Given the description of an element on the screen output the (x, y) to click on. 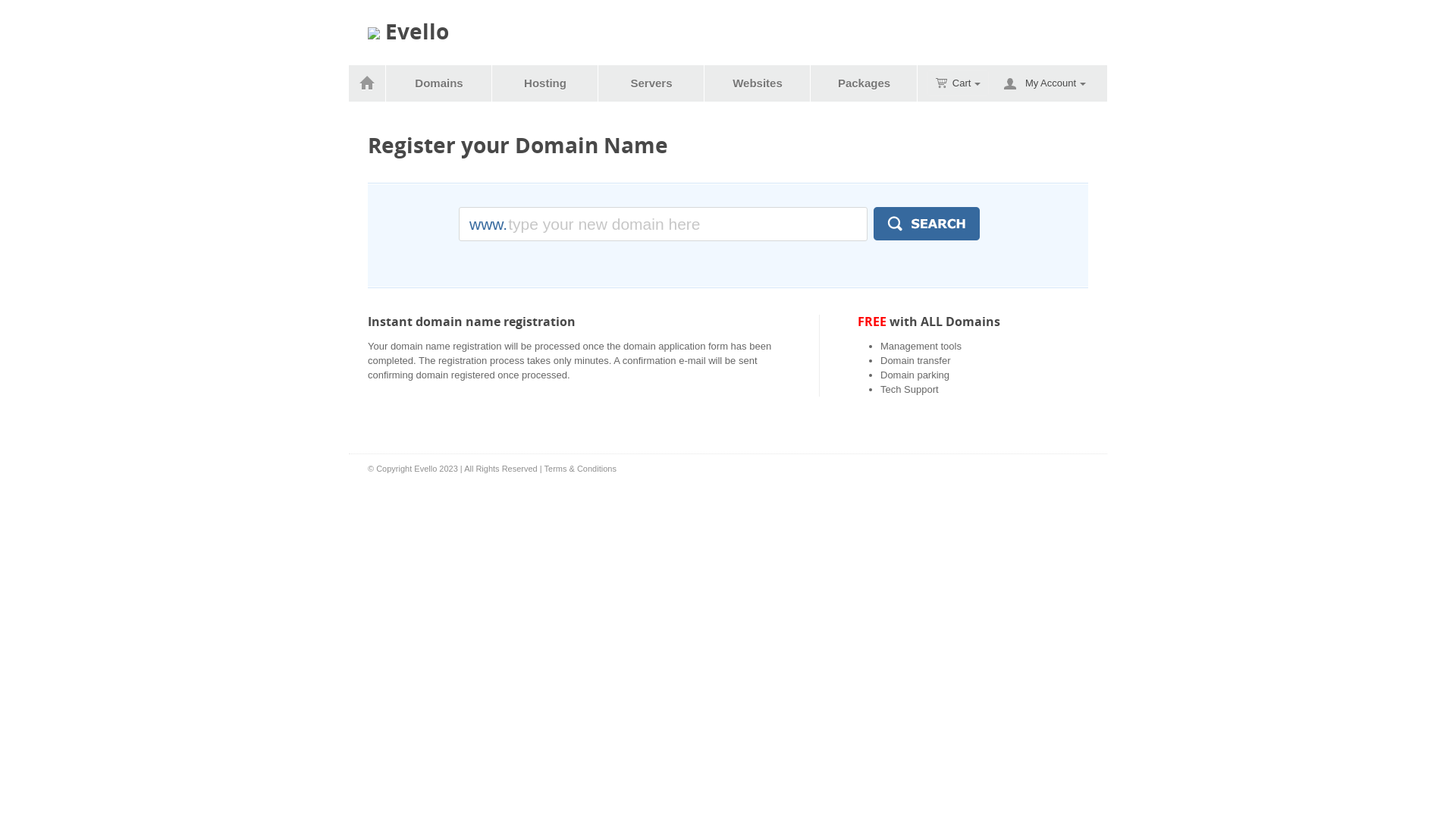
Terms & Conditions Element type: text (580, 468)
Search Element type: text (926, 223)
Hosting Element type: text (545, 83)
Home Element type: text (366, 83)
Evello Element type: text (407, 31)
Websites Element type: text (757, 83)
Packages Element type: text (864, 83)
Domains Element type: text (439, 83)
Cart Element type: text (957, 82)
My Account Element type: text (1055, 83)
Servers Element type: text (651, 83)
